Given the description of an element on the screen output the (x, y) to click on. 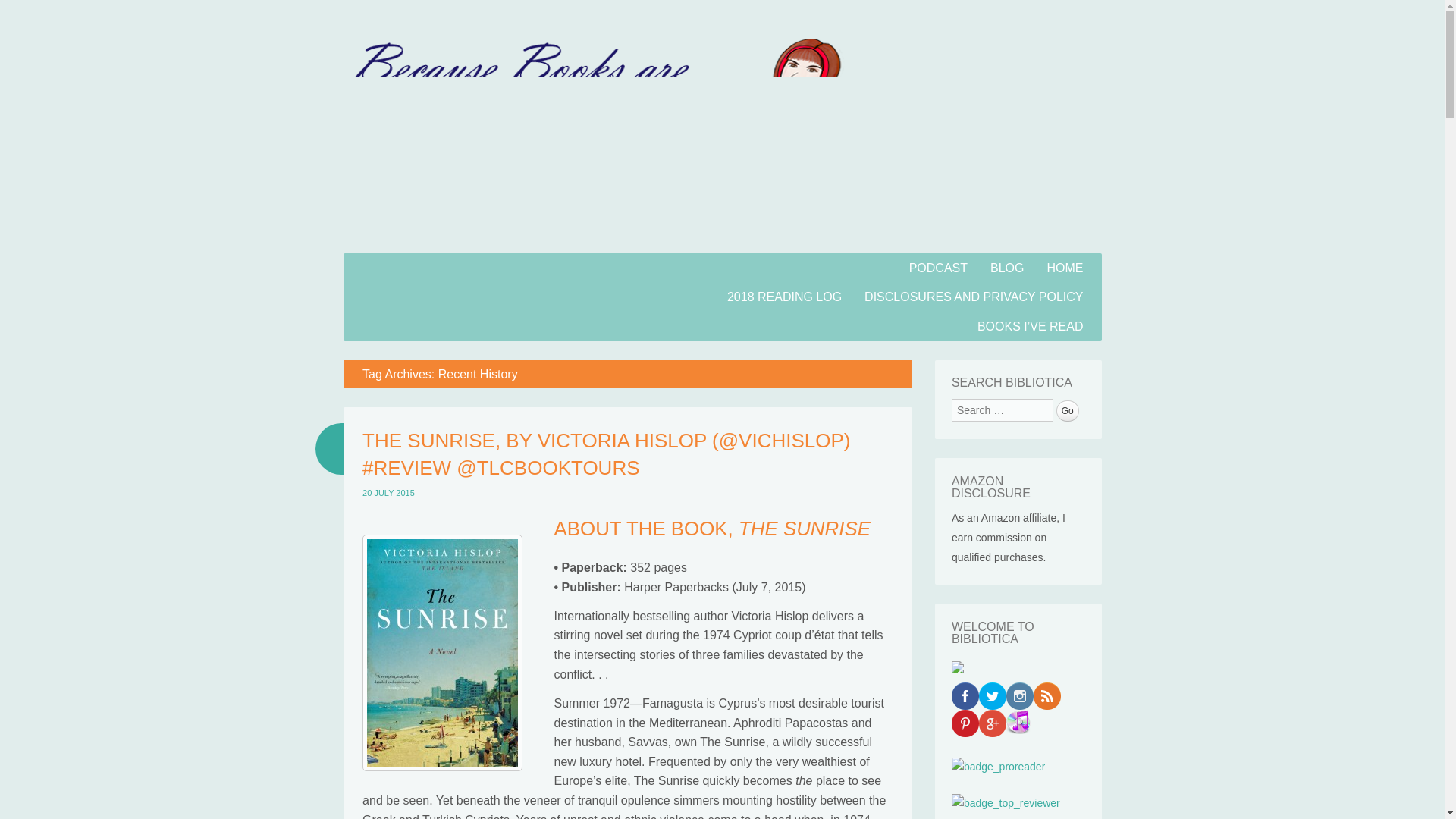
Skip to content (382, 262)
Bibliotica (430, 295)
10:00 (388, 492)
2018 READING LOG (784, 297)
DISCLOSURES AND PRIVACY POLICY (973, 297)
BLOG (1006, 267)
Bibliotica (721, 243)
Go (1067, 410)
PODCAST (938, 267)
Bibliotica (430, 295)
